Given the description of an element on the screen output the (x, y) to click on. 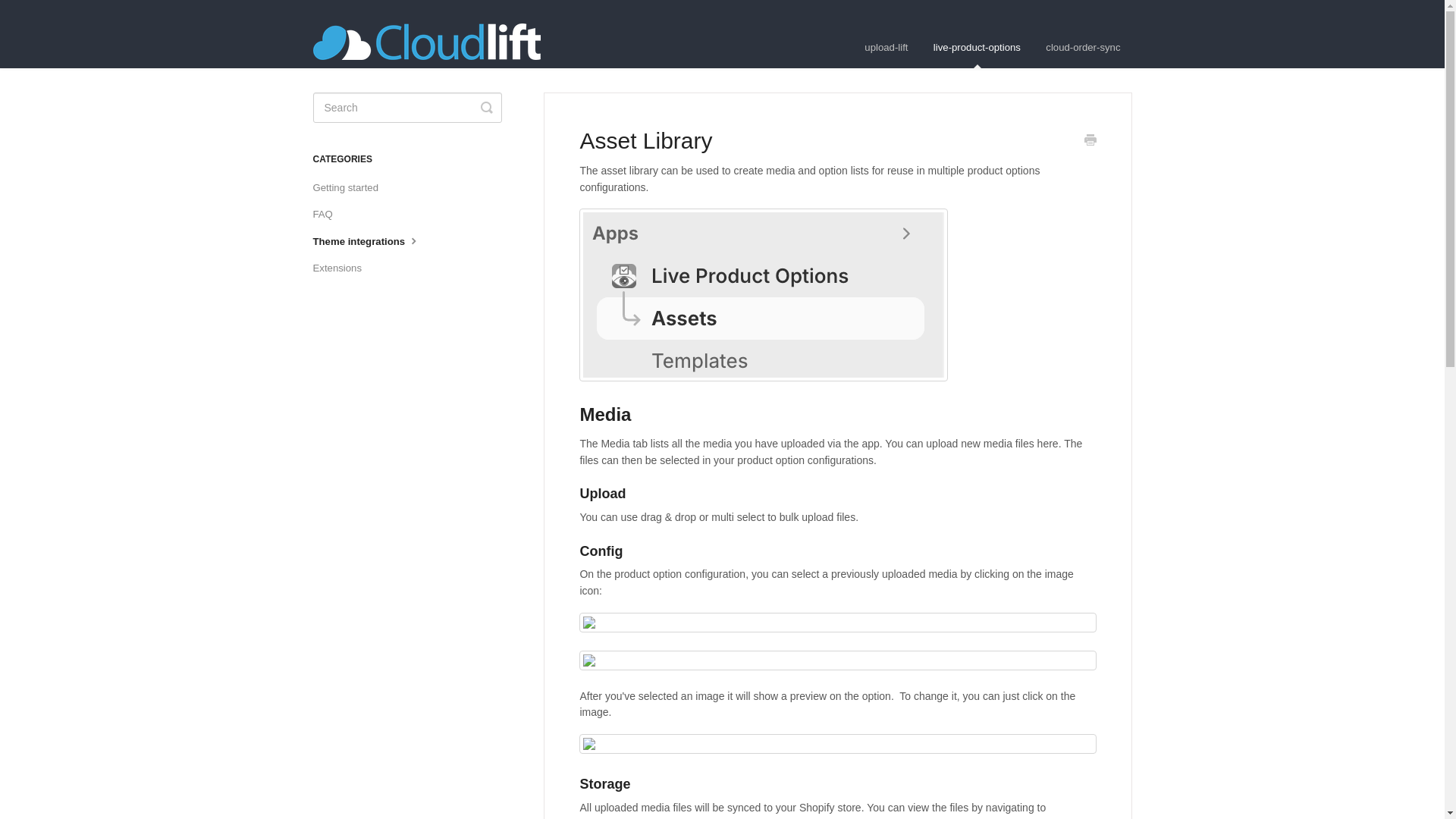
upload-lift (885, 47)
FAQ (328, 214)
Extensions (342, 268)
live-product-options (976, 47)
search-query (406, 107)
cloud-order-sync (1082, 47)
Theme integrations (372, 241)
Getting started (351, 187)
